Given the description of an element on the screen output the (x, y) to click on. 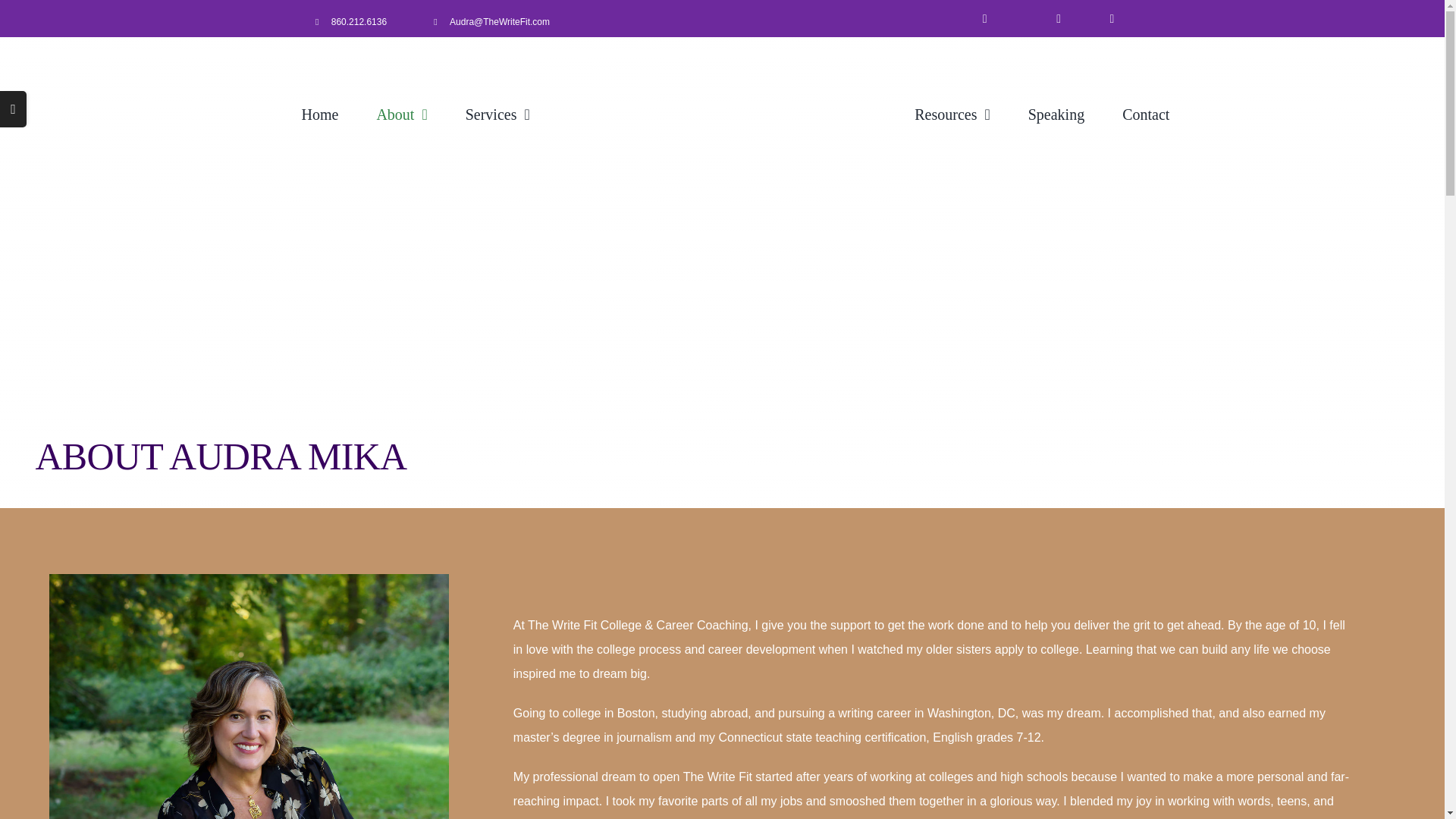
Services (497, 114)
Home (319, 114)
860.212.6136 (359, 21)
About (400, 114)
